Given the description of an element on the screen output the (x, y) to click on. 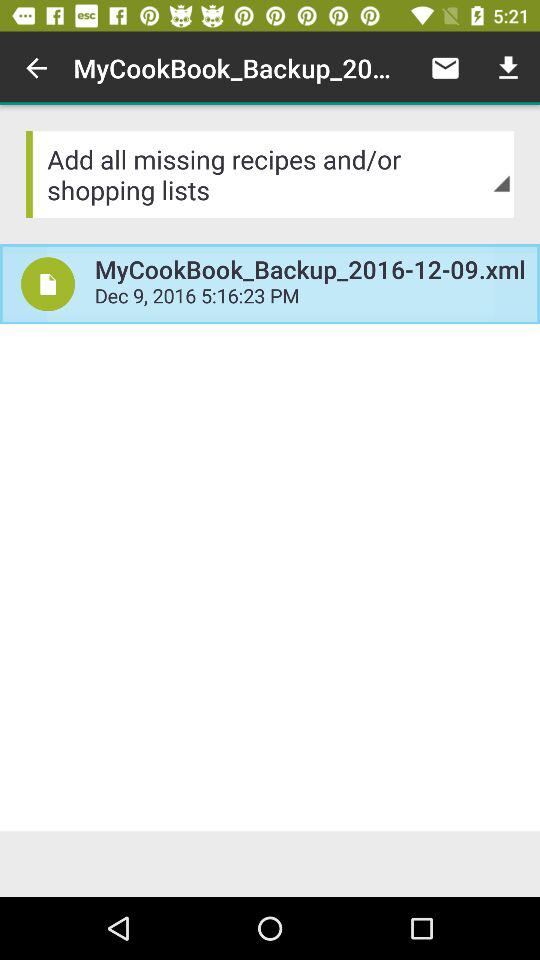
jump to the dec 9 2016 (309, 298)
